Given the description of an element on the screen output the (x, y) to click on. 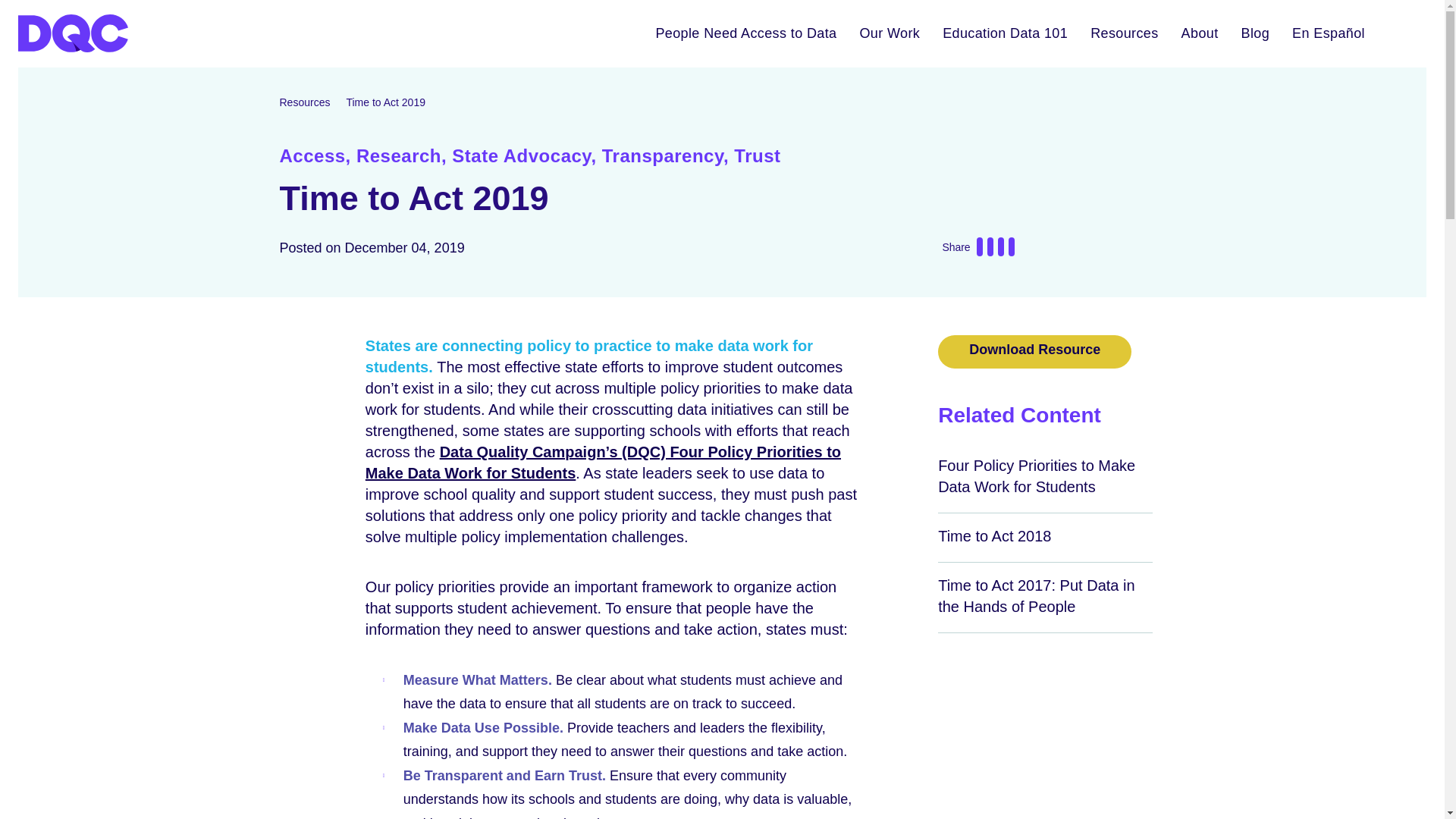
Four Policy Priorities to Make Data Work for Students (1036, 476)
About (1200, 33)
Who We Are (1200, 33)
Go to Resources. (304, 102)
Resources (1123, 33)
Time to Act 2018 (994, 535)
People Need Access to Data (745, 33)
Why Education Data? (1004, 33)
Time to Act 2017: Put Data in the Hands of People (1035, 596)
Search this site (1401, 32)
Download Resource (1034, 351)
Our Work (889, 33)
Education Data 101 (1004, 33)
Resources (1123, 33)
Go to Data Quality Campaign Home. (123, 33)
